Given the description of an element on the screen output the (x, y) to click on. 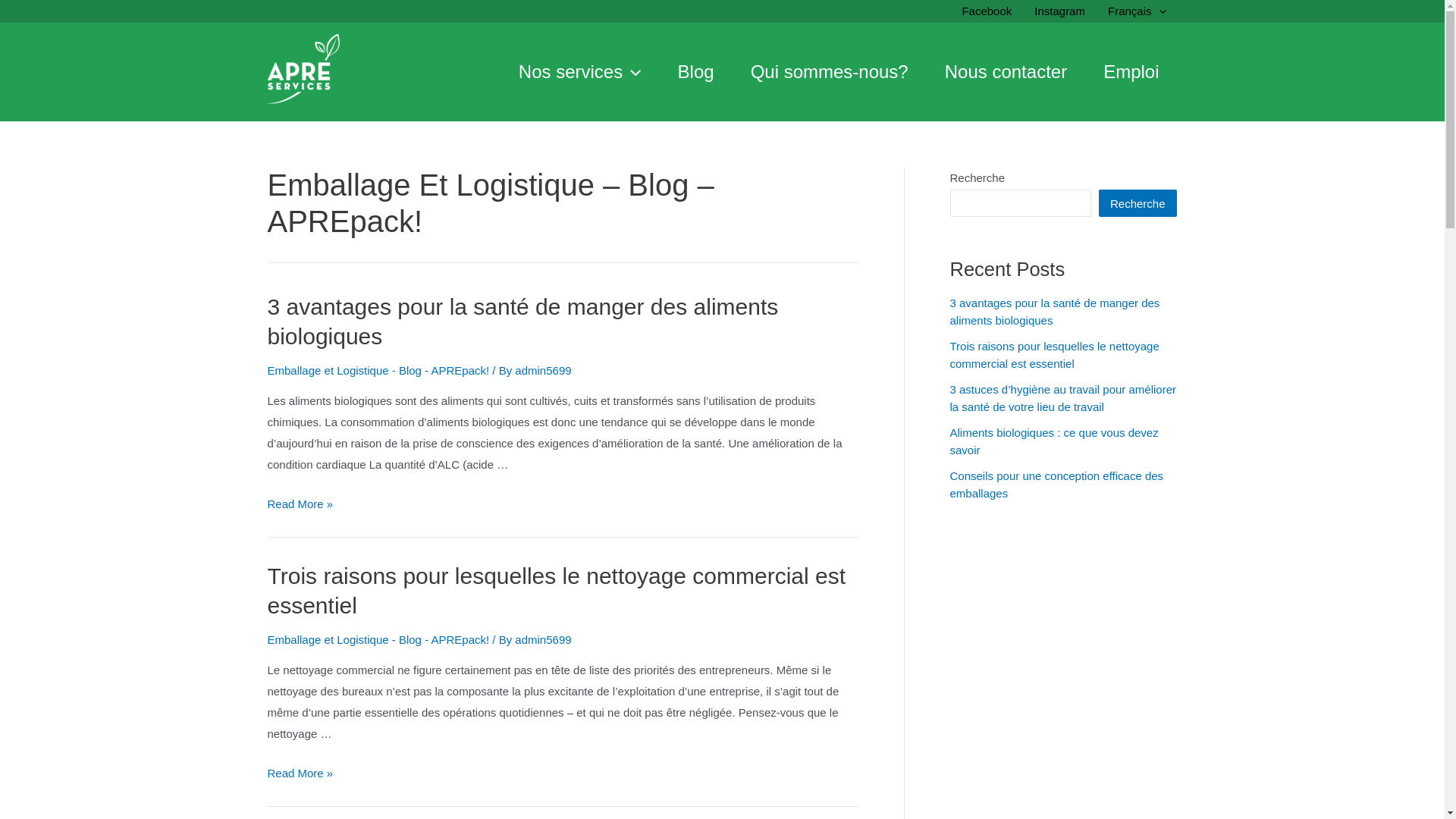
Instagram Element type: text (1059, 11)
Emploi Element type: text (1130, 71)
Aliments biologiques : ce que vous devez savoir Element type: text (1053, 441)
admin5699 Element type: text (542, 639)
Conseils pour une conception efficace des emballages Element type: text (1056, 484)
admin5699 Element type: text (542, 370)
Facebook Element type: text (986, 11)
Emballage et Logistique - Blog - APREpack! Element type: text (377, 639)
Qui sommes-nous? Element type: text (829, 71)
Nos services Element type: text (579, 71)
Blog Element type: text (695, 71)
Recherche Element type: text (1137, 202)
Nous contacter Element type: text (1005, 71)
Emballage et Logistique - Blog - APREpack! Element type: text (377, 370)
